Given the description of an element on the screen output the (x, y) to click on. 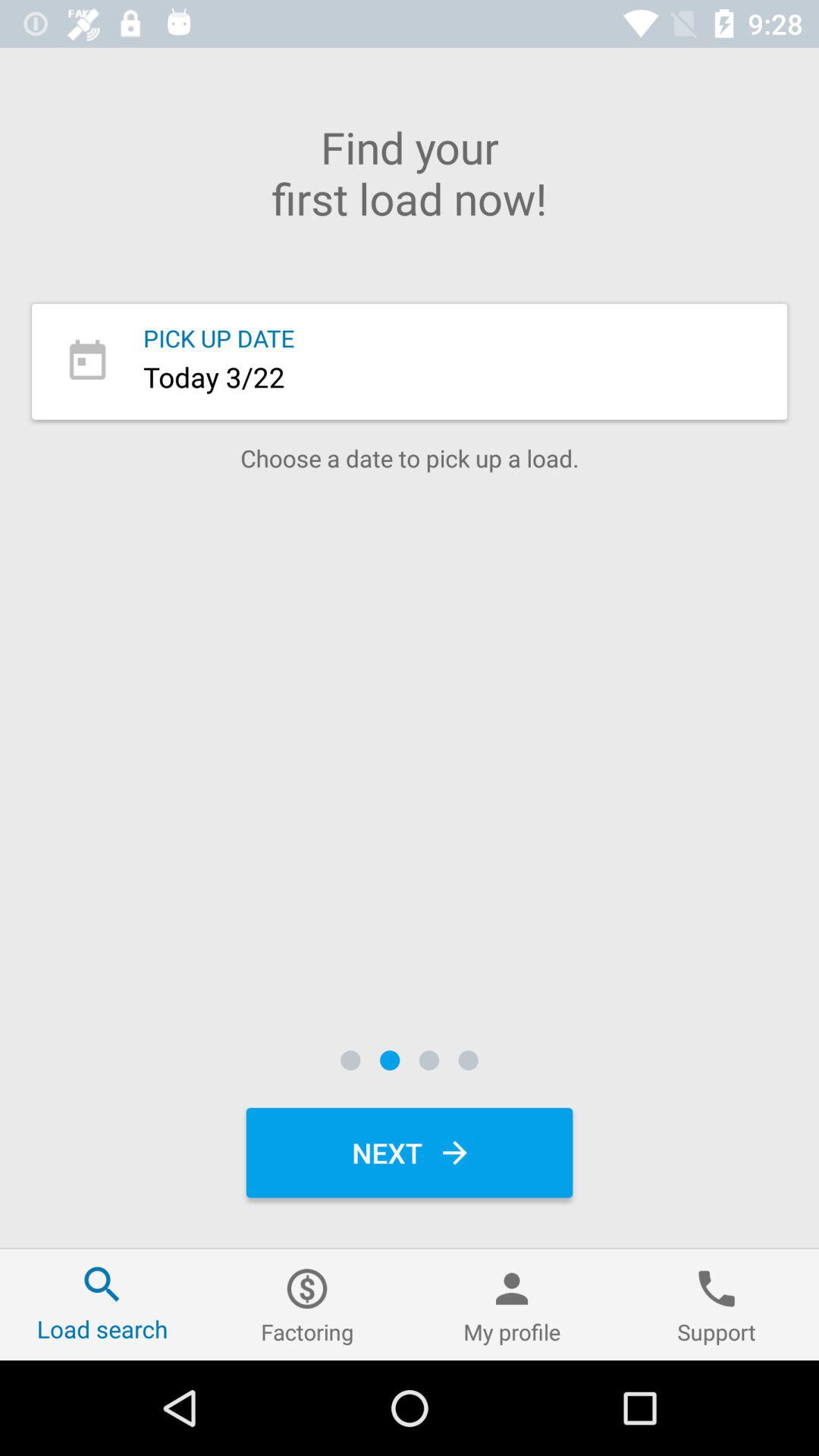
press the support at the bottom right corner (716, 1304)
